Given the description of an element on the screen output the (x, y) to click on. 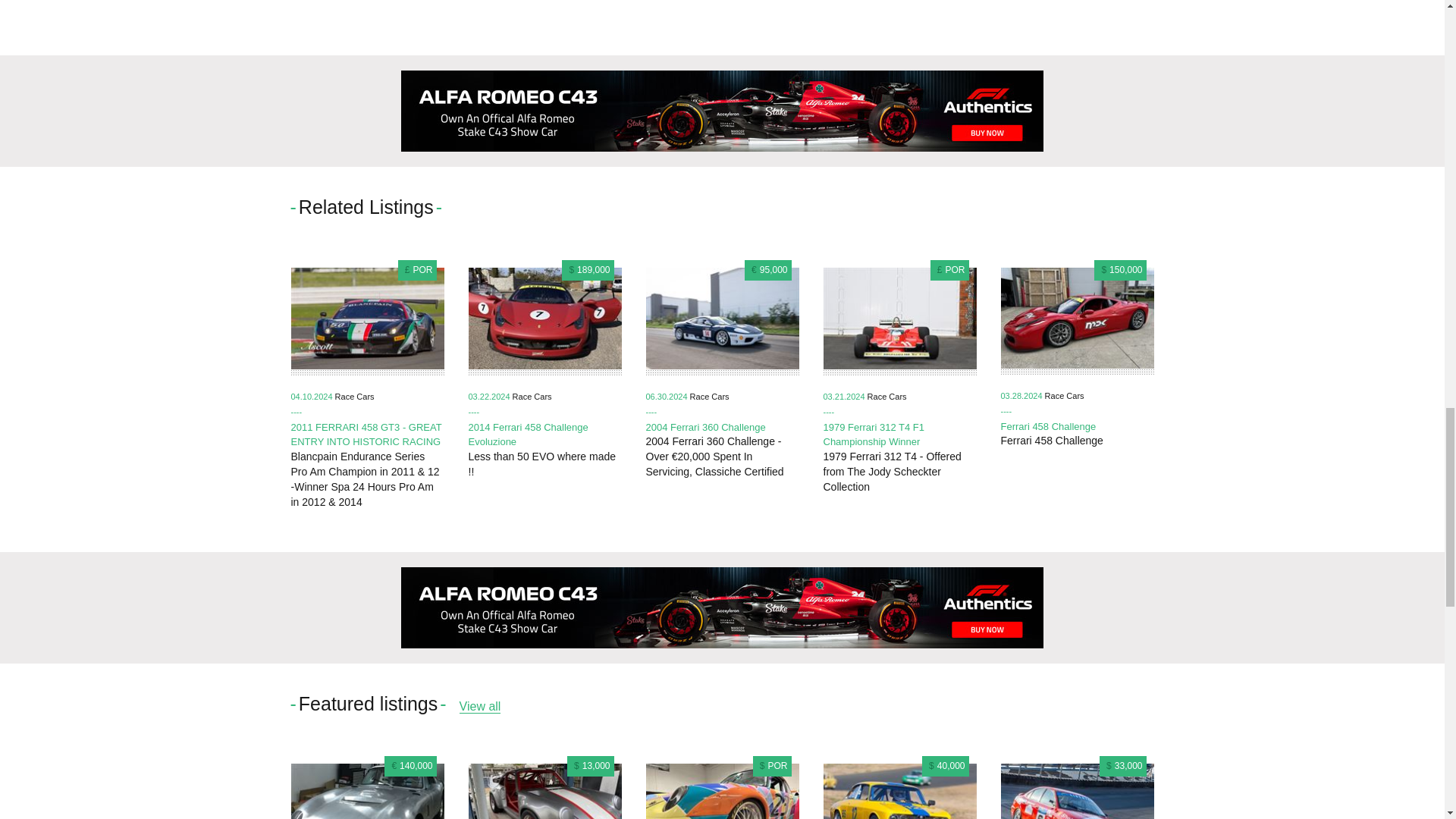
1979 Ferrari 312 T4 F1 Championship Winner (874, 434)
2011 FERRARI 458 GT3 - GREAT ENTRY INTO HISTORIC RACING (366, 434)
2014 Ferrari 458 Challenge Evoluzione (528, 434)
2004 Ferrari 360 Challenge (705, 427)
Alfa Romeo C43 F1 Show Car (722, 607)
Alfa Romeo C43 F1 Show Car (722, 110)
